Given the description of an element on the screen output the (x, y) to click on. 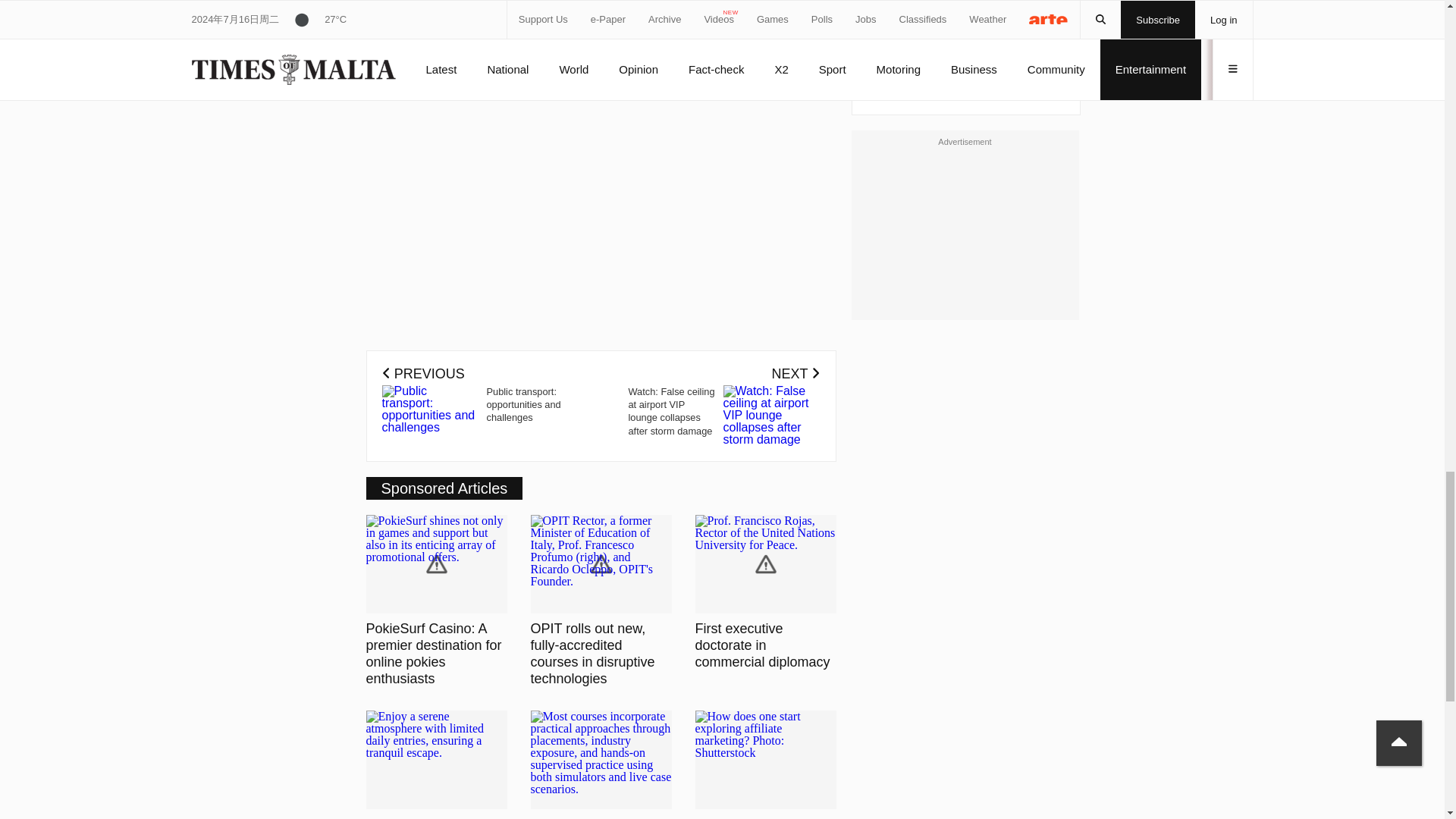
Court (886, 9)
Roberta Metsola (951, 9)
Traffic (887, 34)
Politics (1019, 9)
Support Us (743, 69)
